Given the description of an element on the screen output the (x, y) to click on. 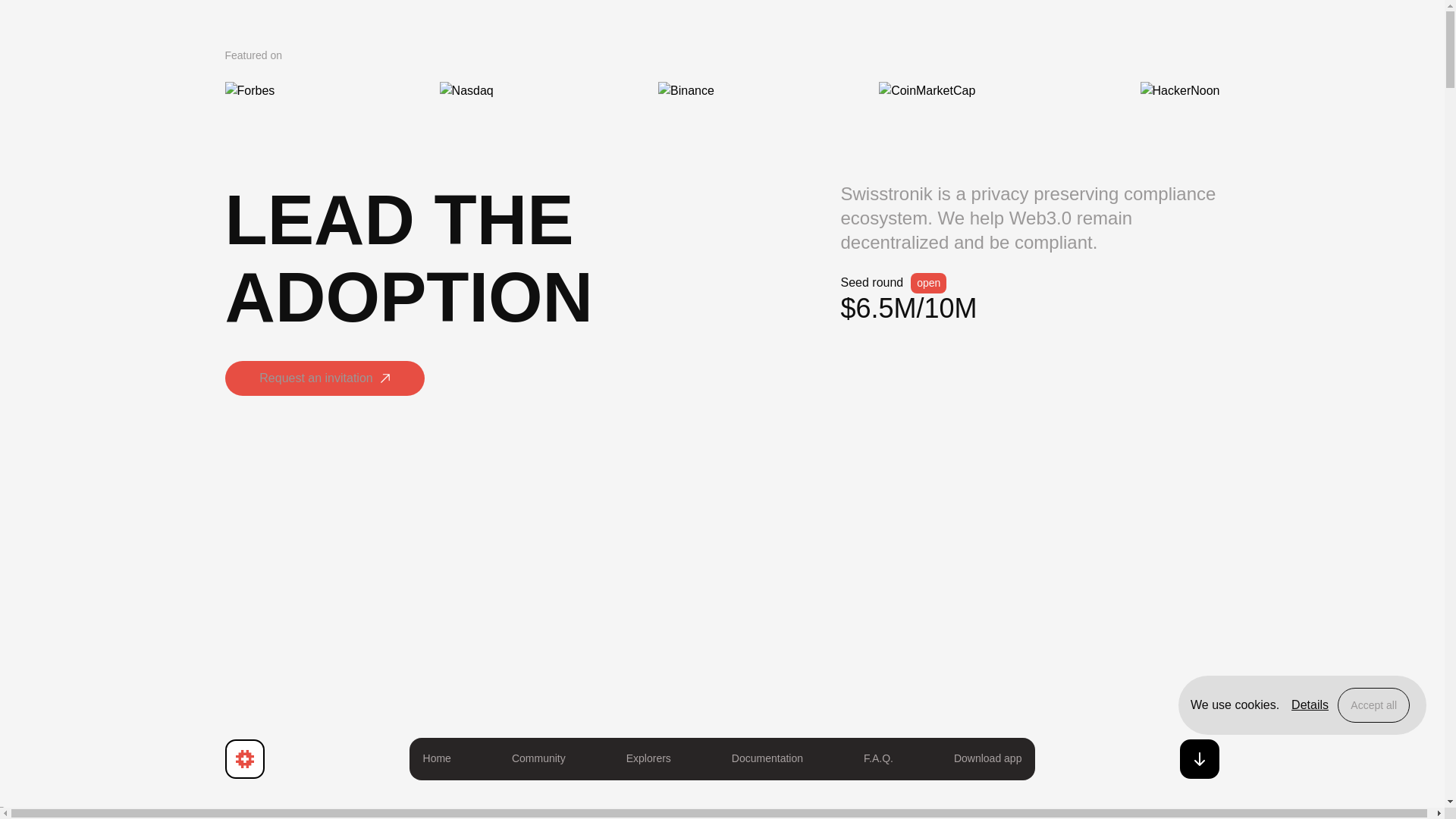
Request an invitation (323, 381)
